Given the description of an element on the screen output the (x, y) to click on. 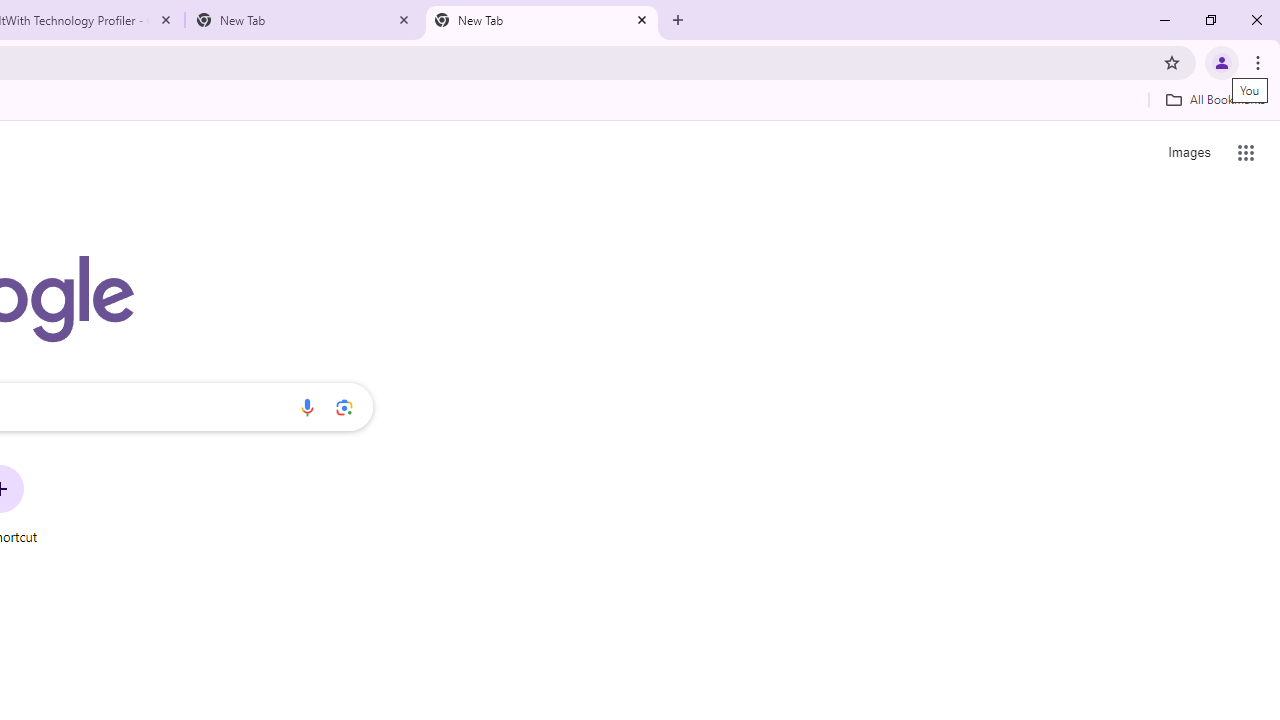
You (1221, 62)
Search by image (344, 407)
Google apps (1245, 152)
Search by voice (307, 407)
New Tab (304, 20)
Search for Images  (1188, 152)
All Bookmarks (1215, 99)
New Tab (541, 20)
